Given the description of an element on the screen output the (x, y) to click on. 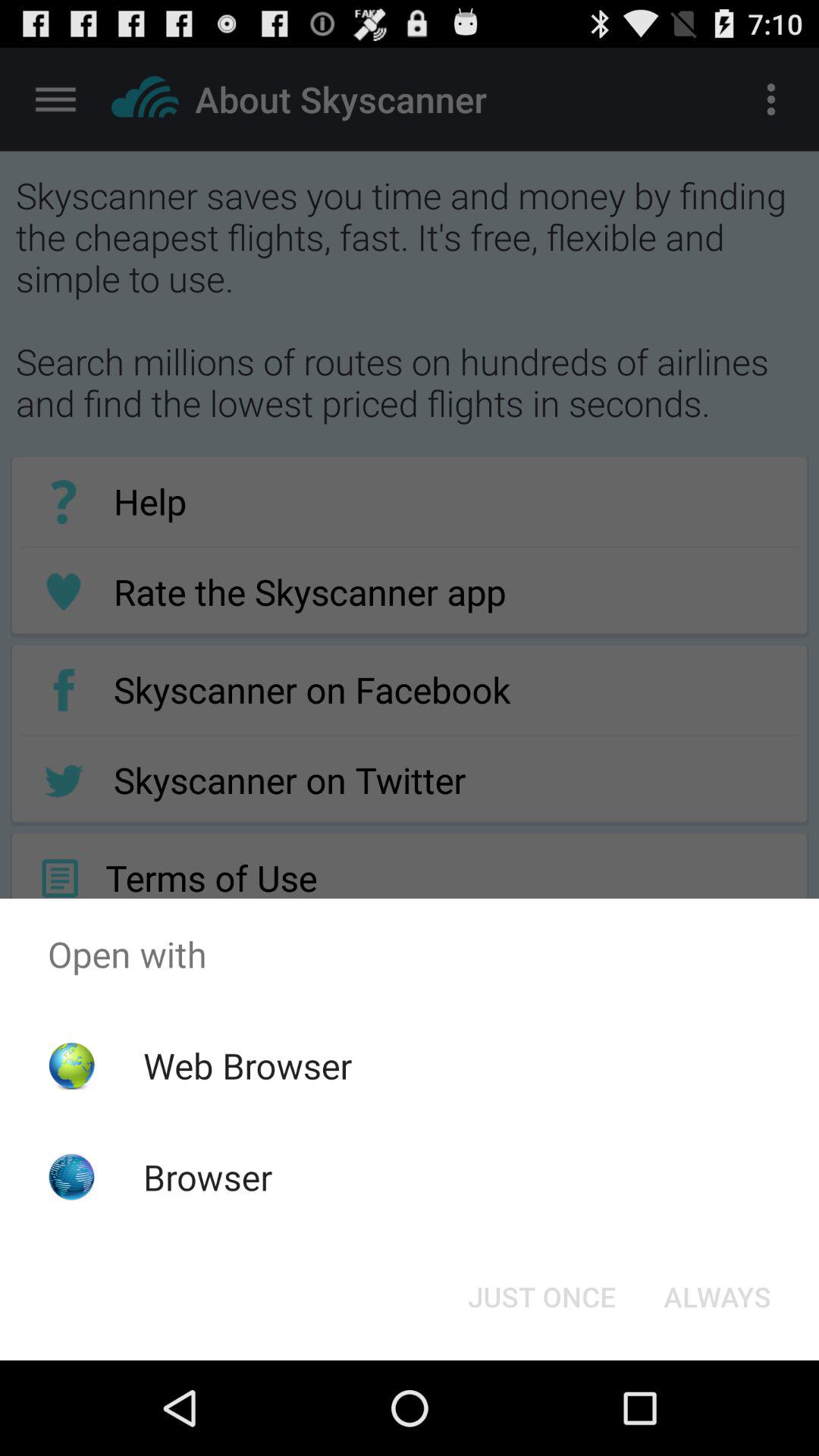
launch the item at the bottom (541, 1296)
